Given the description of an element on the screen output the (x, y) to click on. 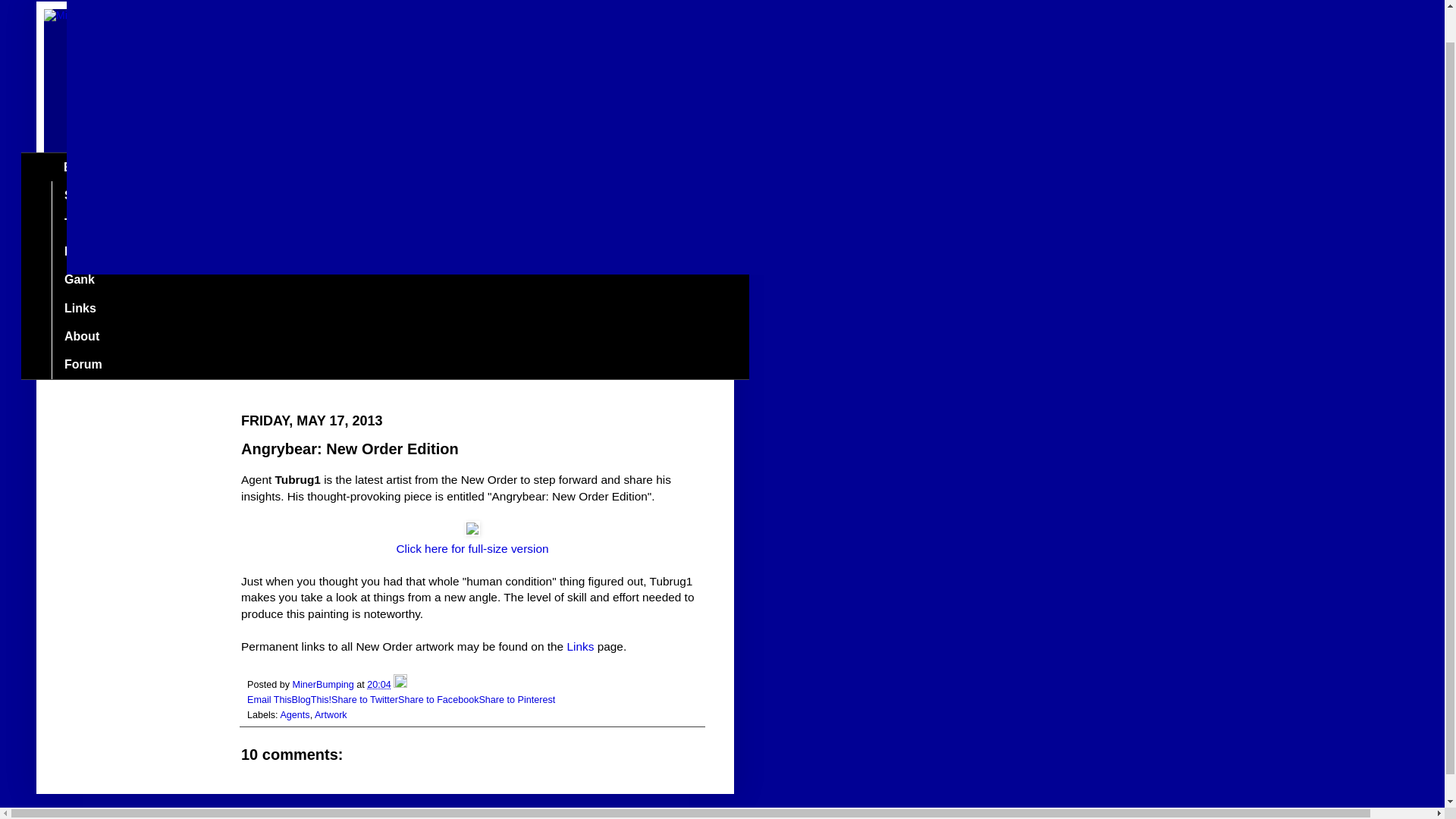
Forum (82, 364)
author profile (324, 684)
Become an Agent (114, 252)
Gank (78, 280)
Share to Pinterest (516, 699)
Share to Facebook (438, 699)
permanent link (378, 684)
Links (580, 645)
Click here for full-size version (472, 548)
MinerBumping (324, 684)
